Given the description of an element on the screen output the (x, y) to click on. 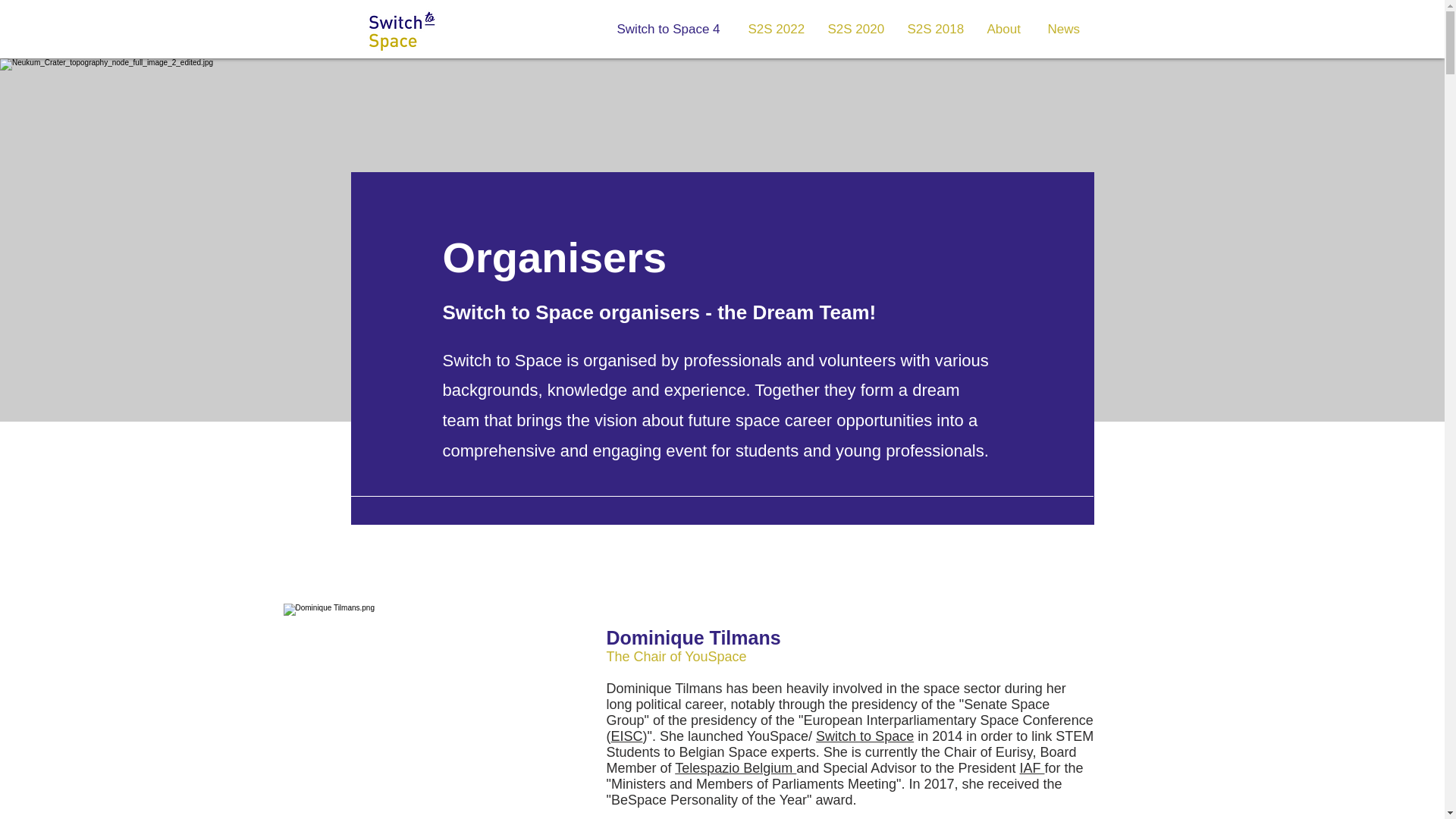
S2S 2018 (935, 29)
Switch to Space 4 (670, 29)
S2S 2022 (776, 29)
S2S 2020 (855, 29)
